Given the description of an element on the screen output the (x, y) to click on. 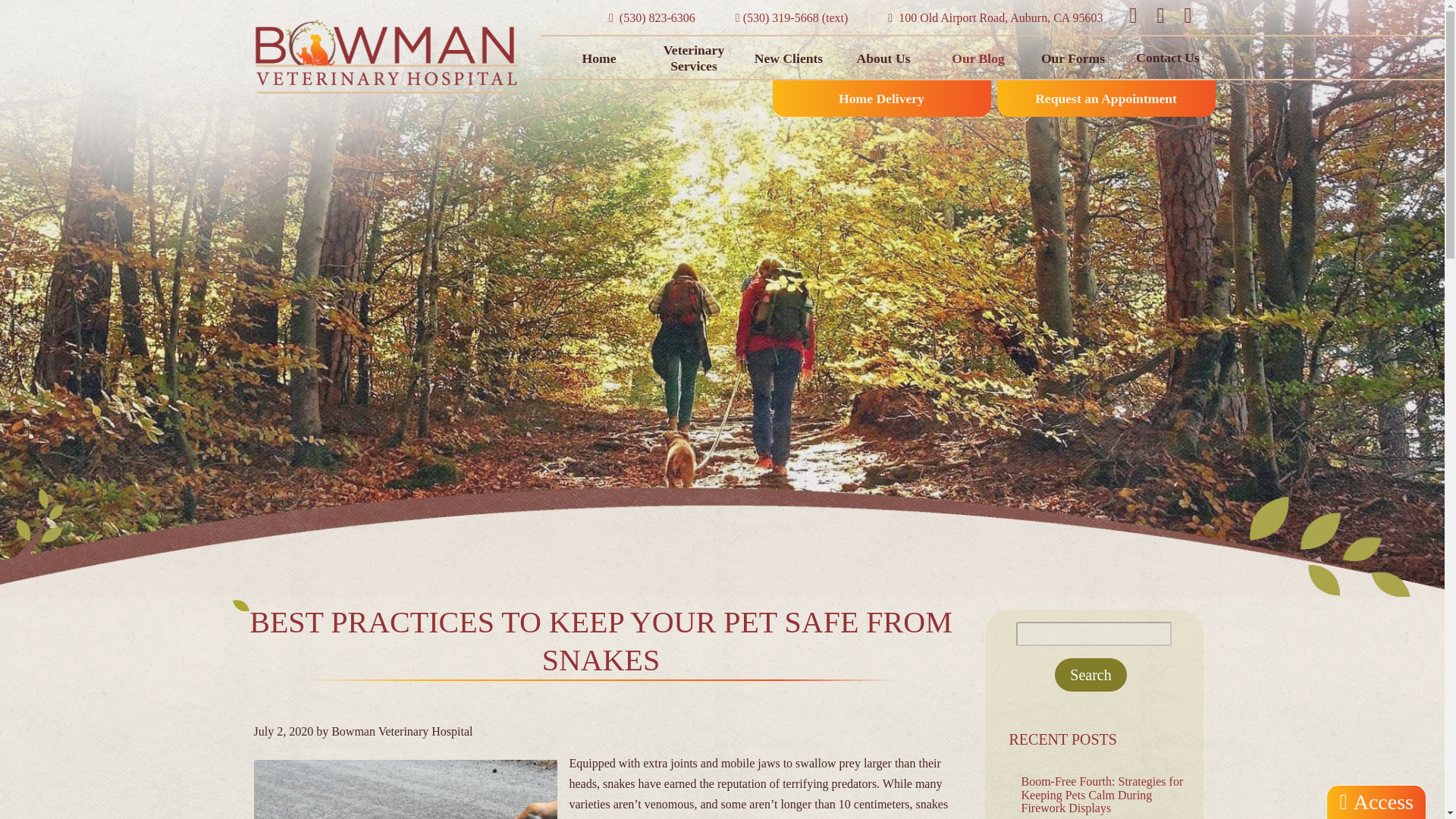
Contact Us (1168, 58)
Home (598, 58)
Request an Appointment (1104, 98)
Search (1089, 674)
Our Blog (978, 58)
Home Delivery (880, 98)
About Us (882, 58)
Our Forms (1072, 58)
Access (1376, 801)
Veterinary Services (693, 58)
New Clients (995, 18)
Bowman Veterinary Hospital (788, 58)
